Given the description of an element on the screen output the (x, y) to click on. 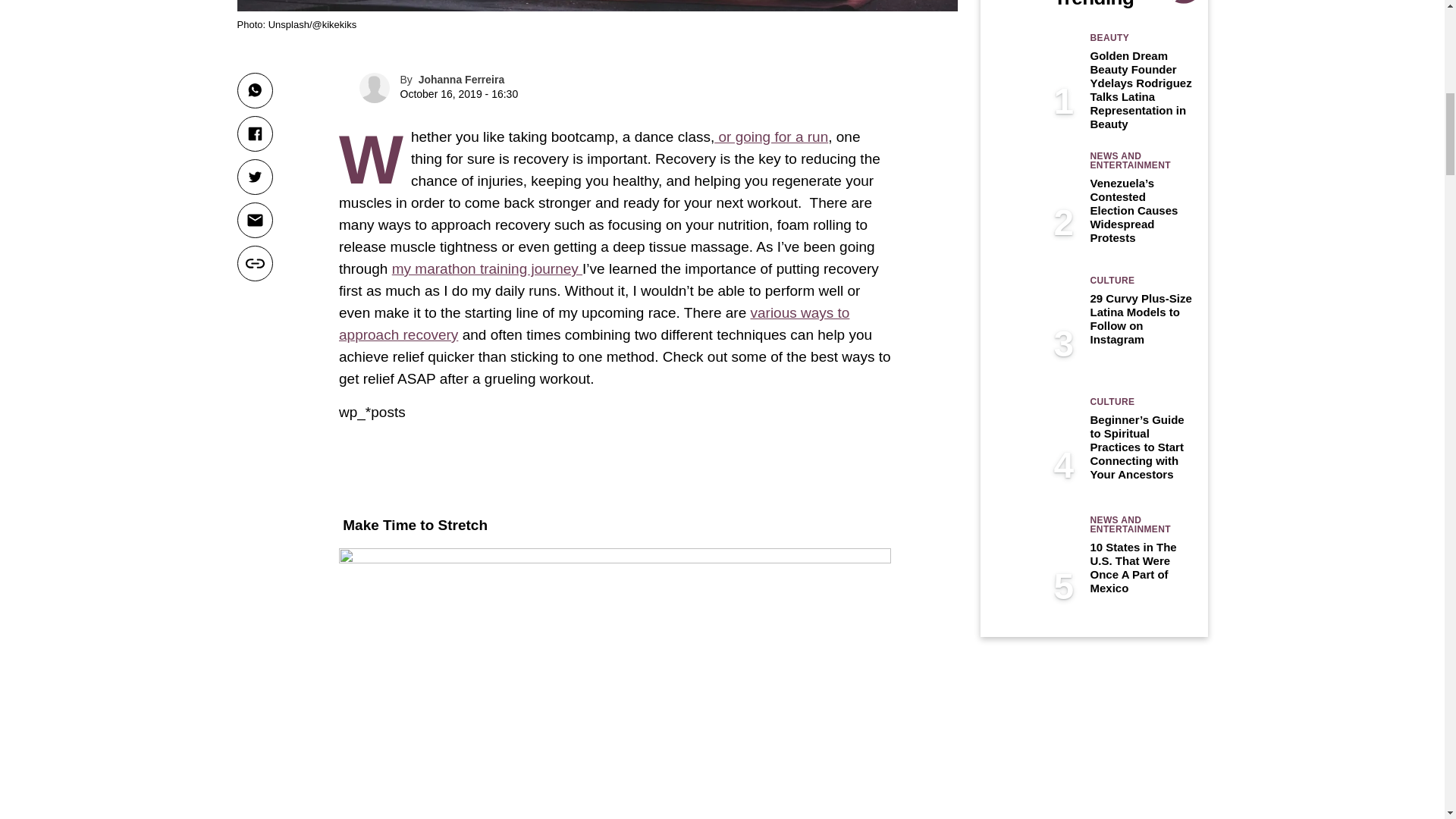
Johanna Ferreira (462, 79)
Share this article on Facebook (253, 133)
my marathon training journey (486, 268)
or going for a run (771, 136)
Share this article on Twitter (253, 176)
various ways to approach recovery (593, 323)
Share this article on WhatsApp (253, 90)
